Given the description of an element on the screen output the (x, y) to click on. 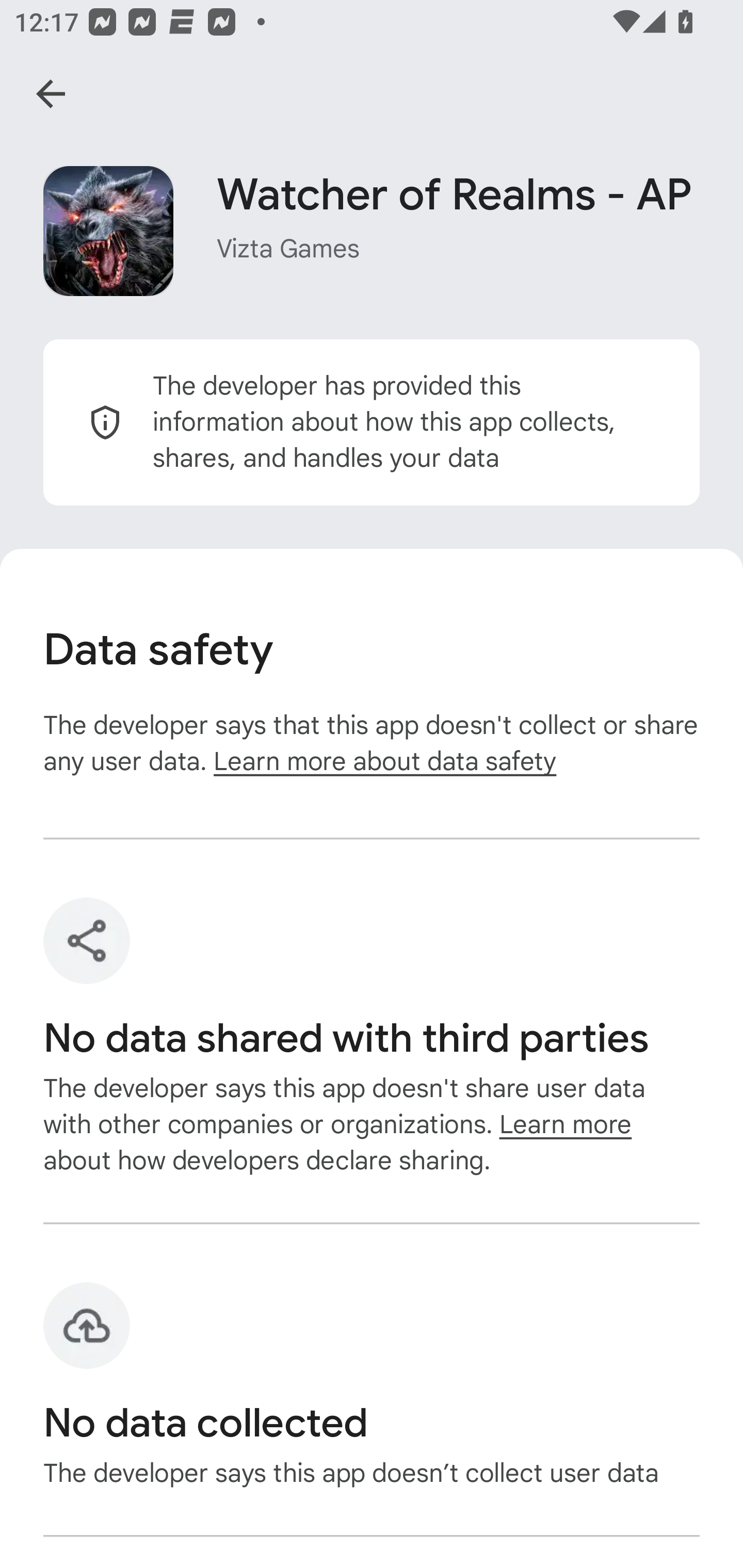
Navigate up (50, 93)
